Given the description of an element on the screen output the (x, y) to click on. 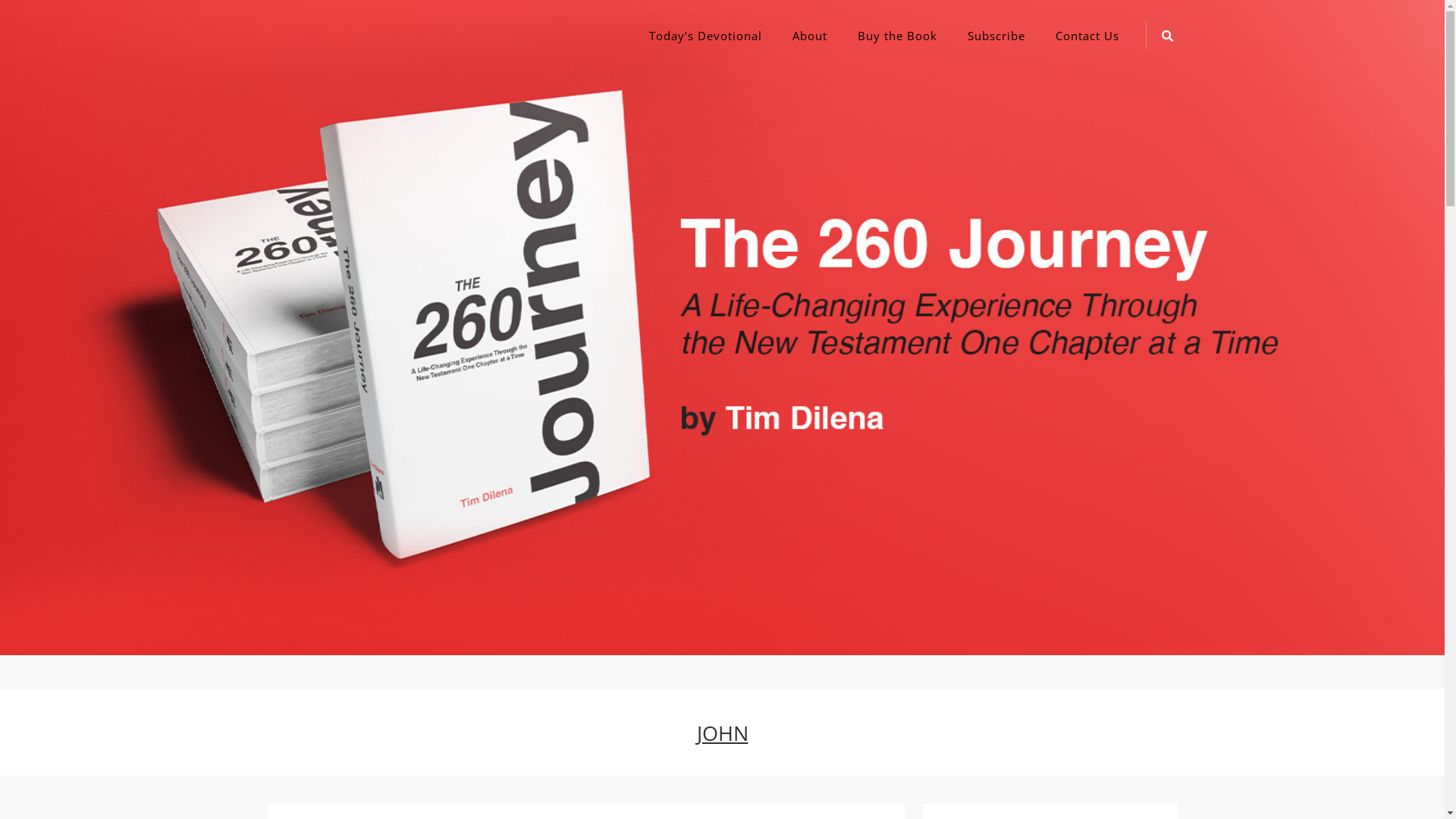
Search Element type: text (752, 429)
Subscribe Element type: text (996, 35)
Search Icon Element type: text (1166, 35)
About Element type: text (808, 35)
Buy the Book Element type: text (896, 35)
Contact Us Element type: text (1087, 35)
